Given the description of an element on the screen output the (x, y) to click on. 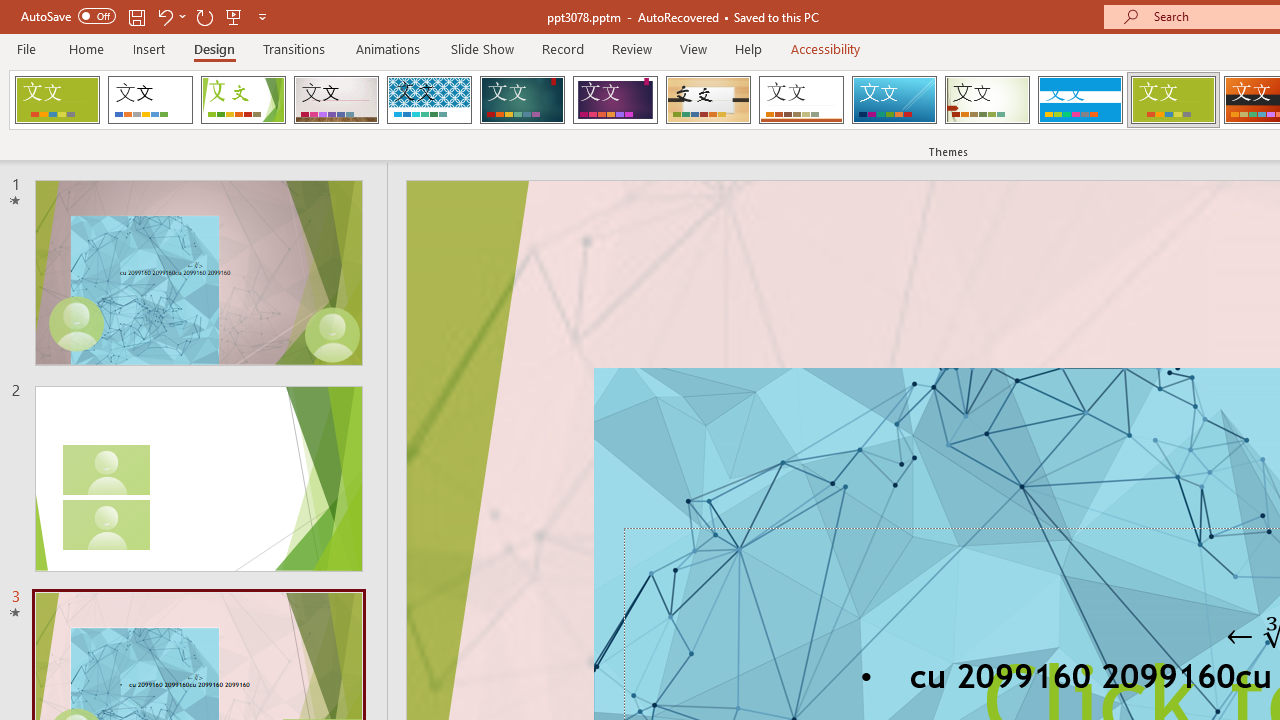
Organic (708, 100)
Retrospect (801, 100)
Integral (429, 100)
